Given the description of an element on the screen output the (x, y) to click on. 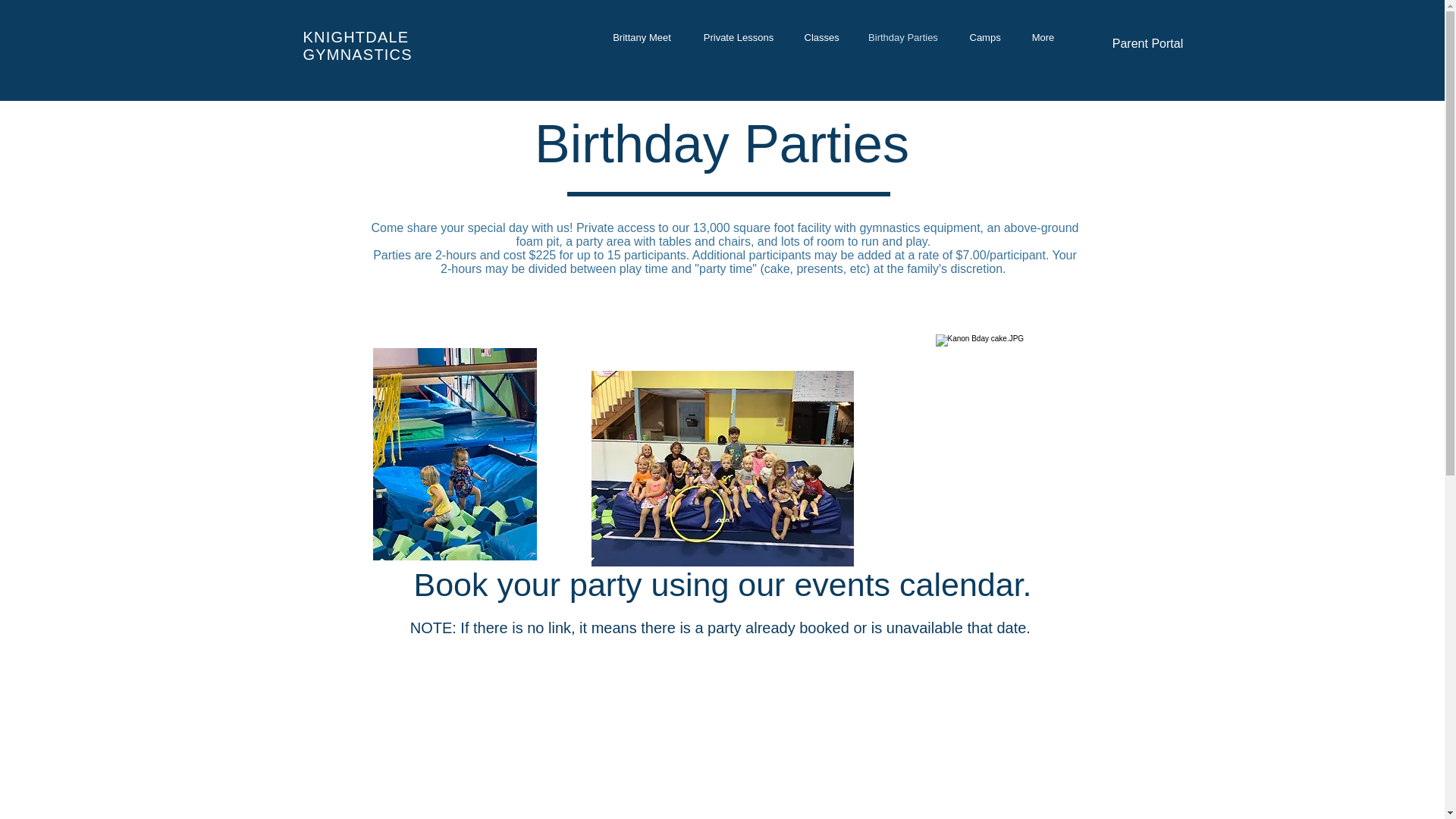
Camps (983, 36)
Parent Portal (1147, 43)
Birthday Parties (903, 36)
Brittany Meet (641, 36)
KNIGHTDALE GYMNASTICS (357, 45)
Private Lessons (738, 36)
Classes (820, 36)
